Given the description of an element on the screen output the (x, y) to click on. 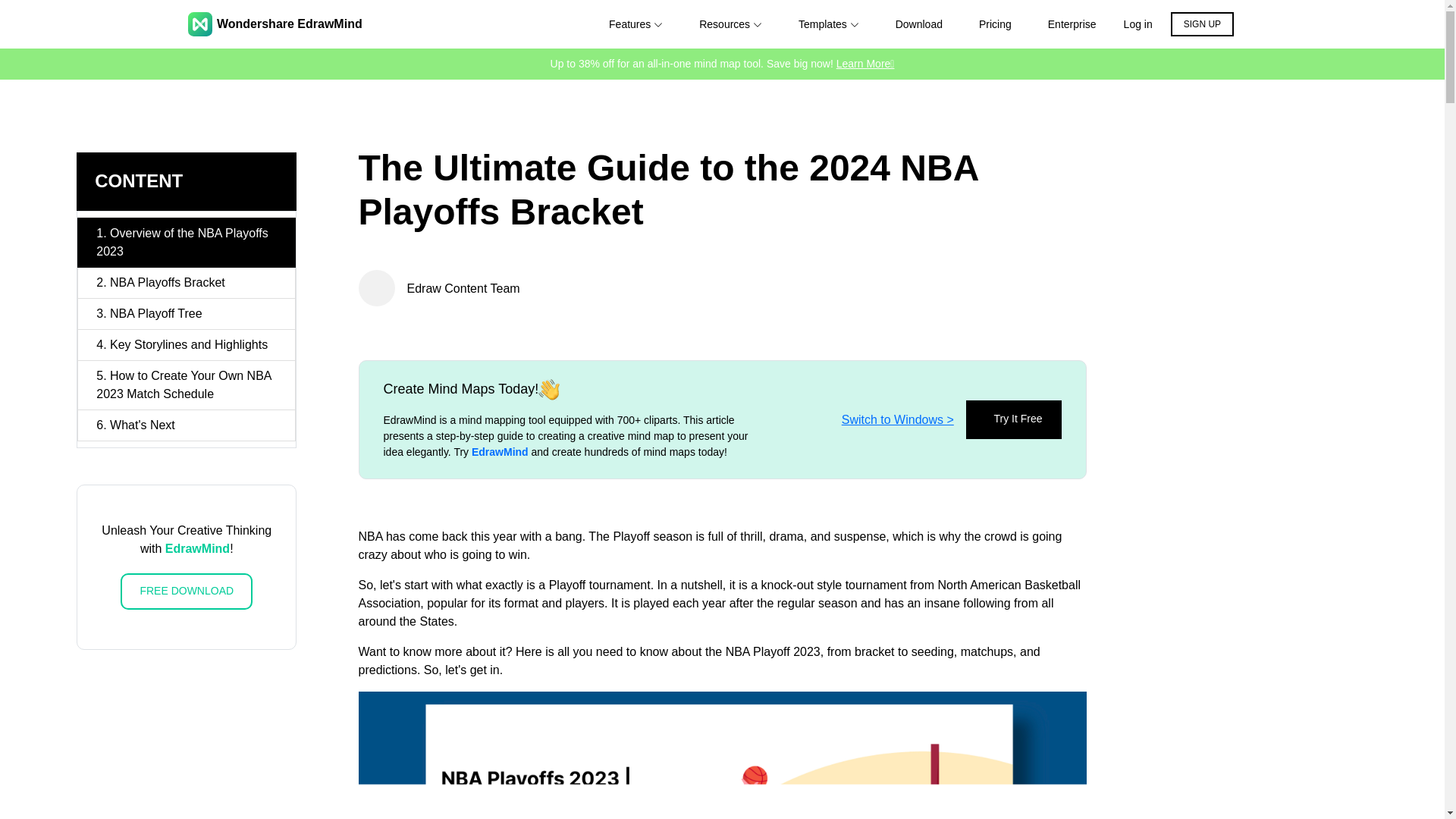
Resources (729, 24)
Wondershare EdrawMind (274, 24)
Features (635, 24)
Download (918, 24)
Pricing (994, 24)
Templates (828, 24)
